Given the description of an element on the screen output the (x, y) to click on. 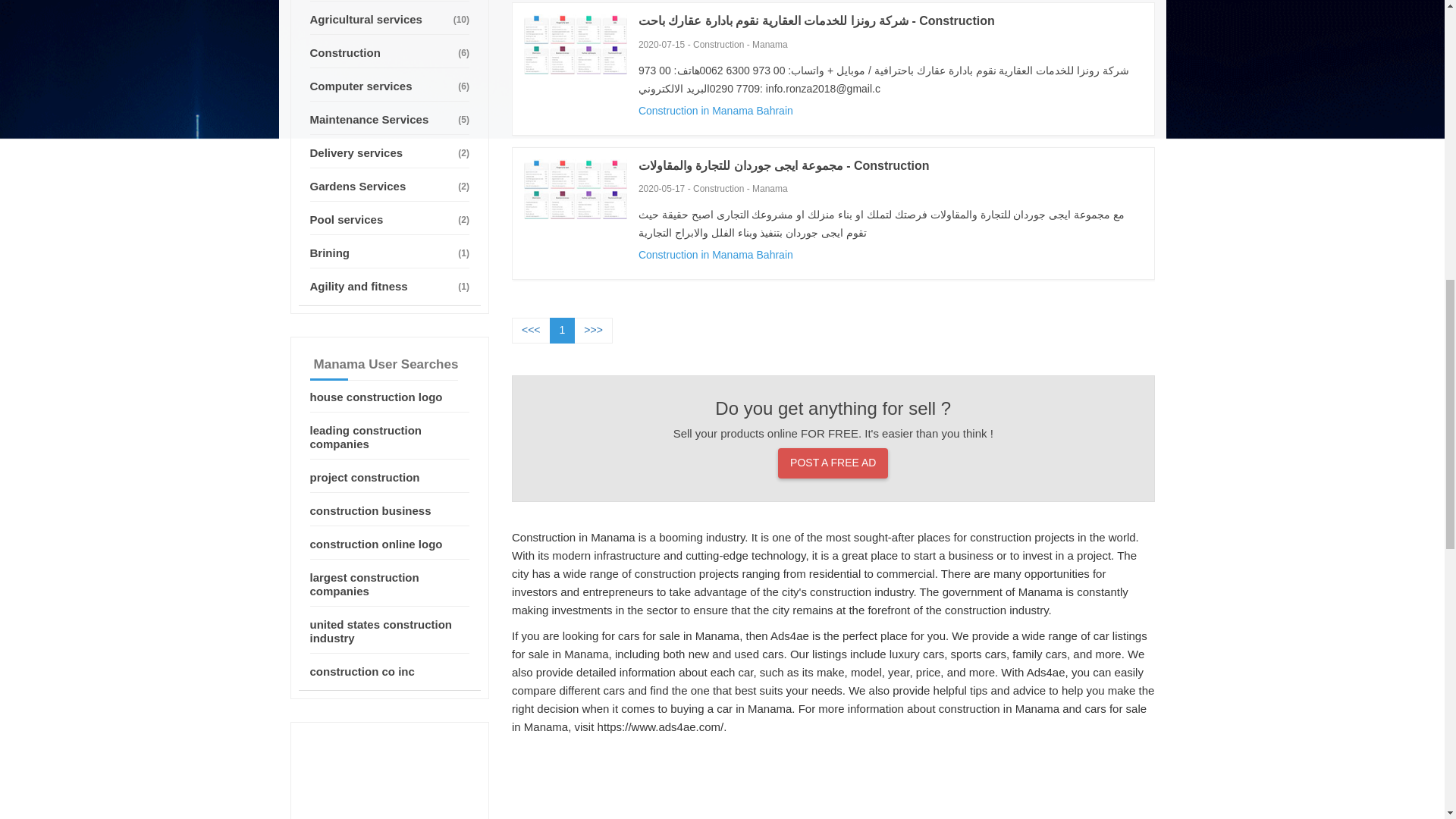
Computer services Manama (388, 86)
Agricultural services Manama (388, 19)
Maintenance Services Manama (388, 120)
Construction Manama (388, 52)
